Given the description of an element on the screen output the (x, y) to click on. 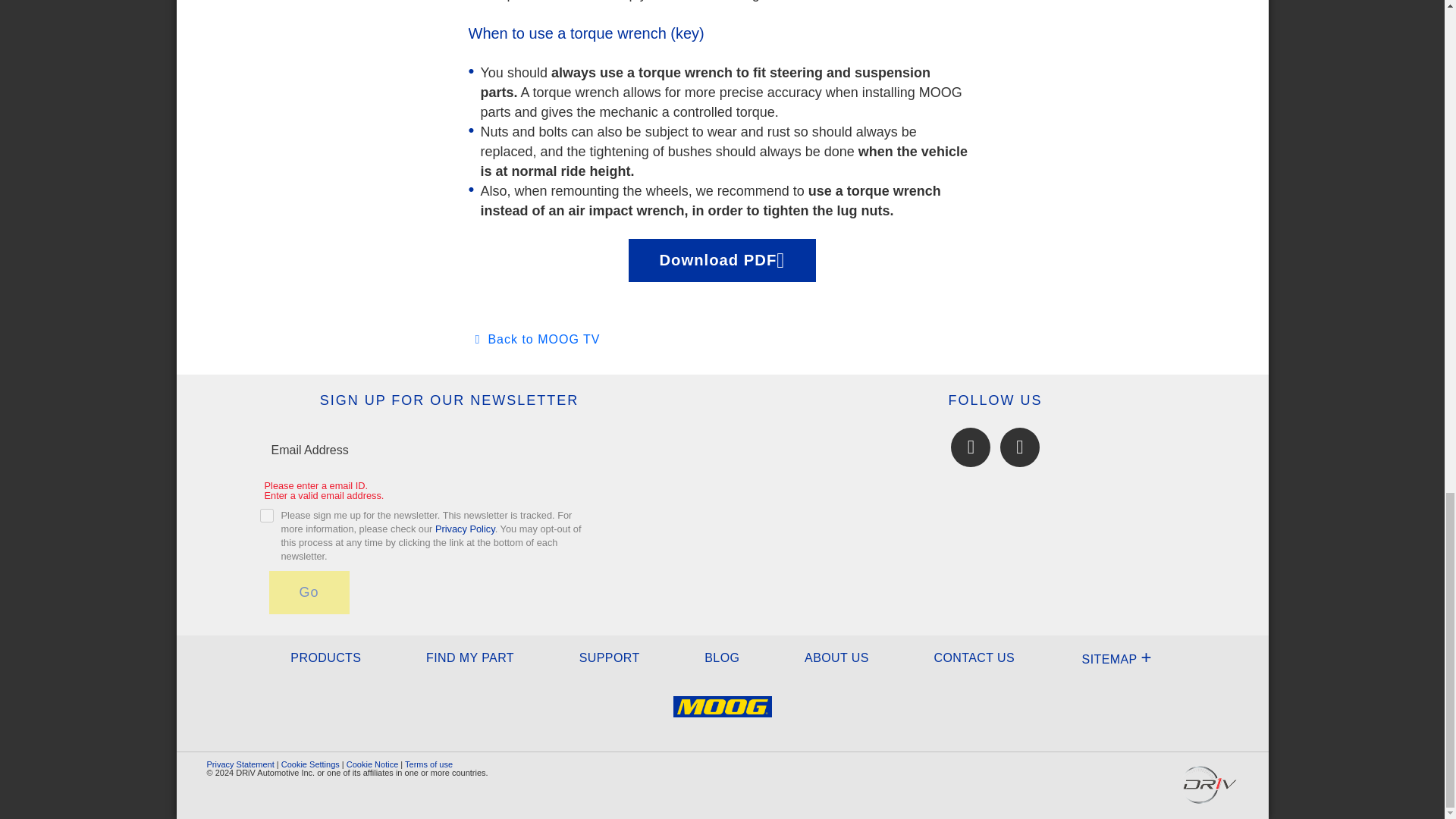
DRiV-Logo (1208, 784)
on (266, 515)
YouTube (1019, 446)
Facebook (970, 446)
MOOG-Color-PMS-NoTag (721, 716)
COOKIE SETTINGS (310, 764)
